Given the description of an element on the screen output the (x, y) to click on. 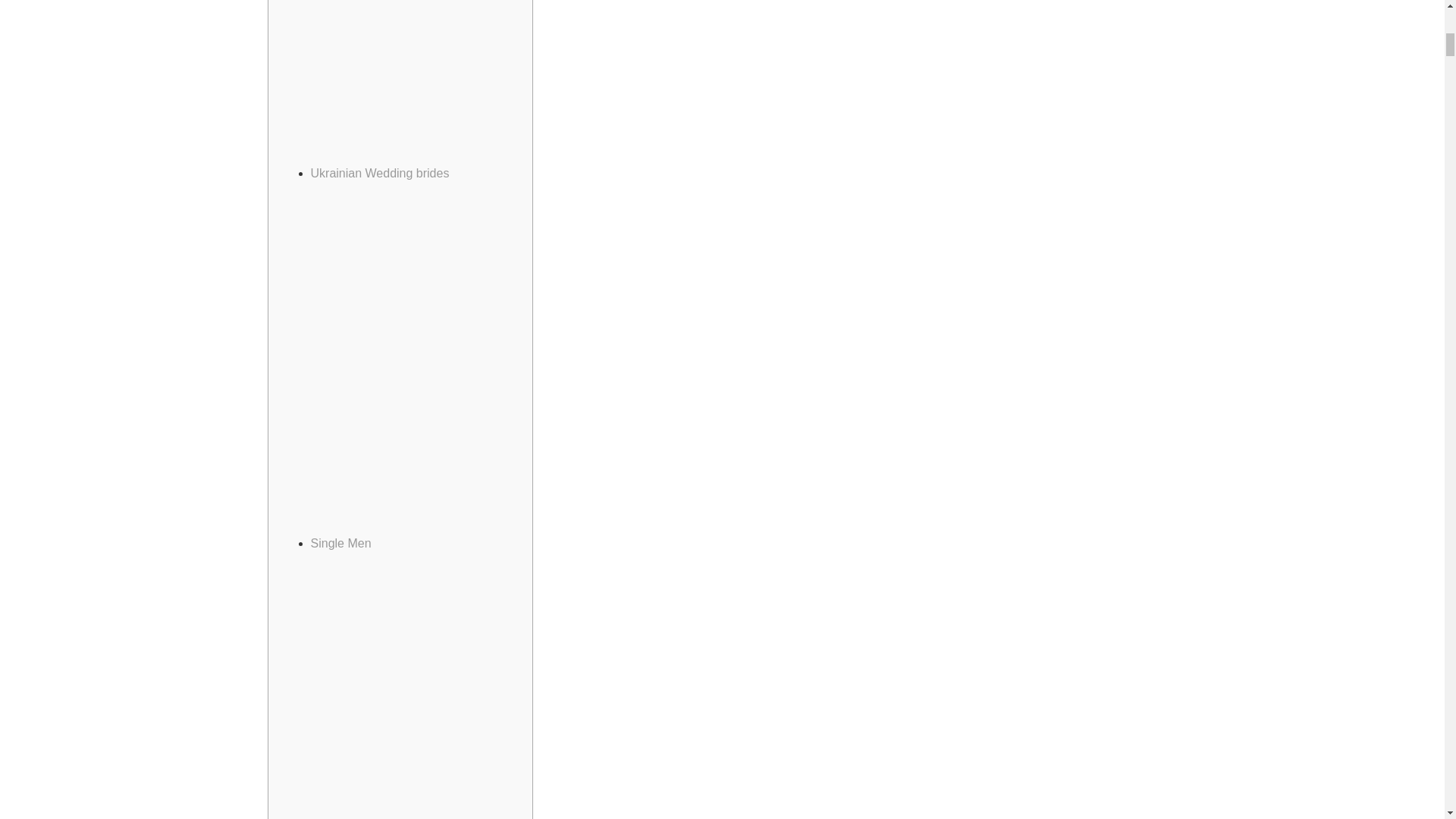
Volver arriba (1413, 26)
Single Men (341, 543)
Ukrainian Wedding brides (380, 173)
